Given the description of an element on the screen output the (x, y) to click on. 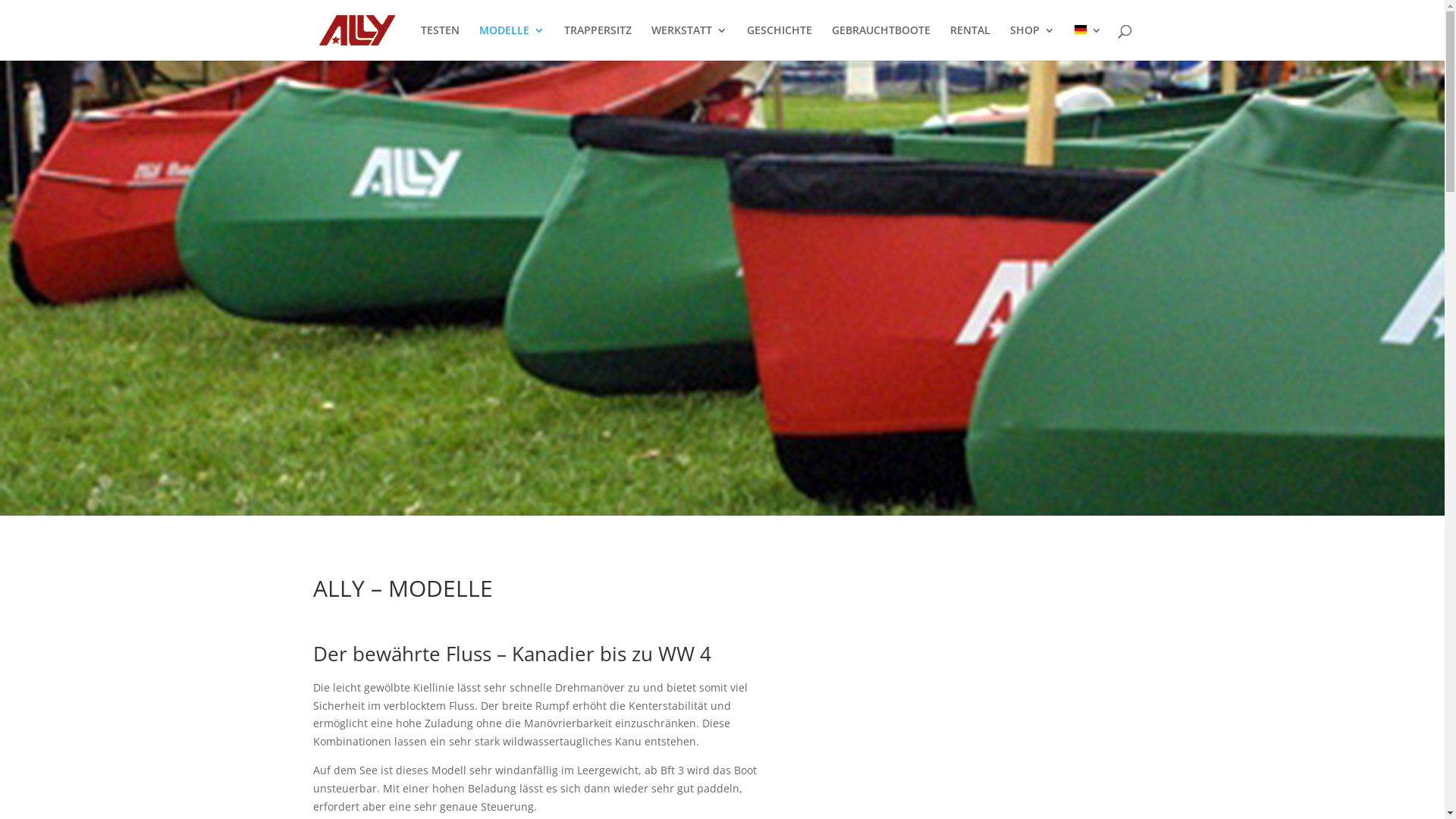
GEBRAUCHTBOOTE Element type: text (880, 42)
TESTEN Element type: text (439, 42)
German Element type: hover (1087, 42)
TRAPPERSITZ Element type: text (597, 42)
WERKSTATT Element type: text (688, 42)
MODELLE Element type: text (511, 42)
SHOP Element type: text (1032, 42)
GESCHICHTE Element type: text (778, 42)
RENTAL Element type: text (969, 42)
ALLY - Modelle Element type: hover (722, 287)
